Given the description of an element on the screen output the (x, y) to click on. 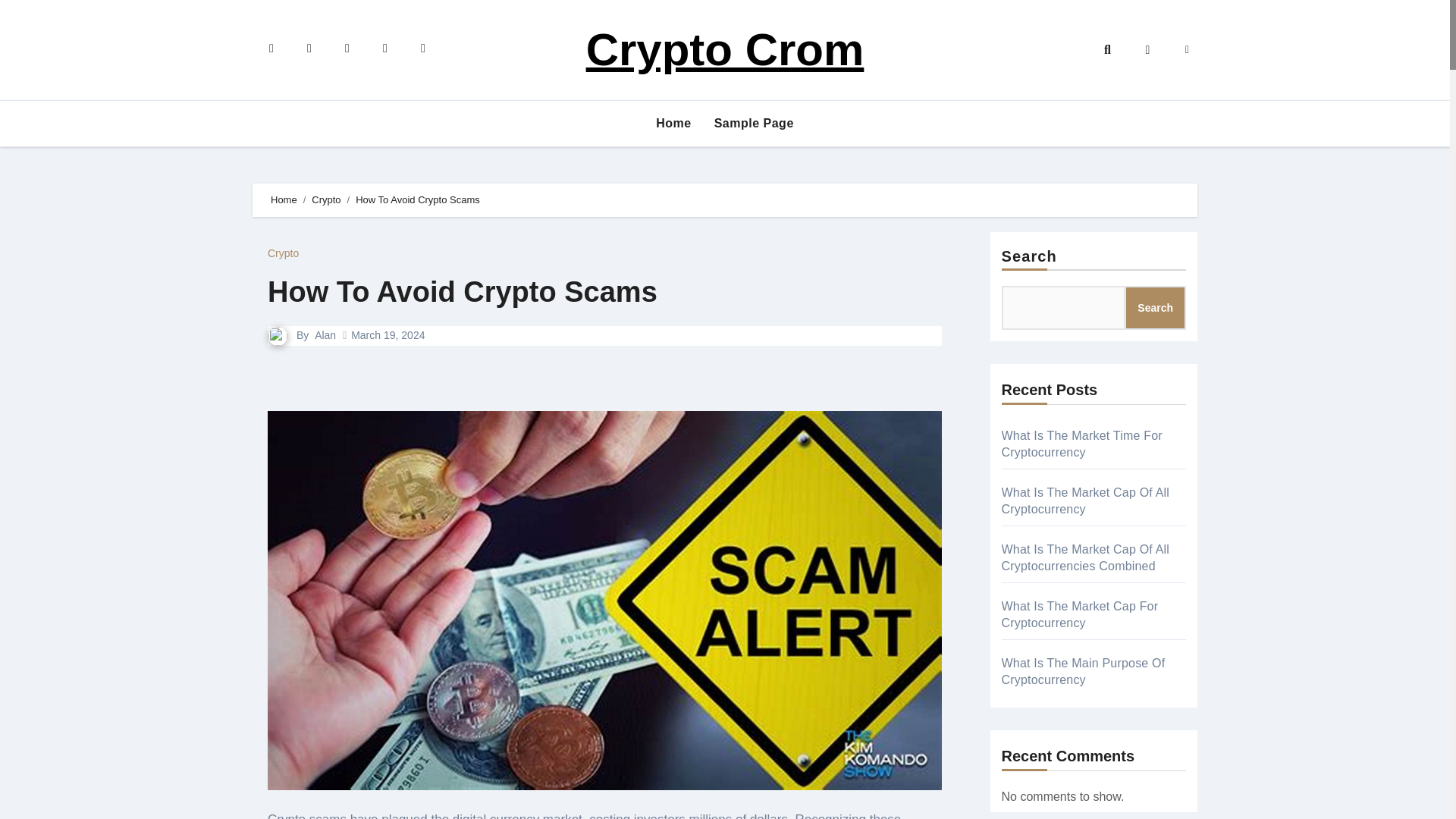
Crypto (325, 199)
Home (283, 199)
Home (673, 123)
Alan (325, 335)
Home (673, 123)
Crypto Crom (725, 49)
How To Avoid Crypto Scams (462, 291)
Crypto (282, 253)
Permalink to: How To Avoid Crypto Scams (462, 291)
March 19, 2024 (387, 335)
Sample Page (754, 123)
